Given the description of an element on the screen output the (x, y) to click on. 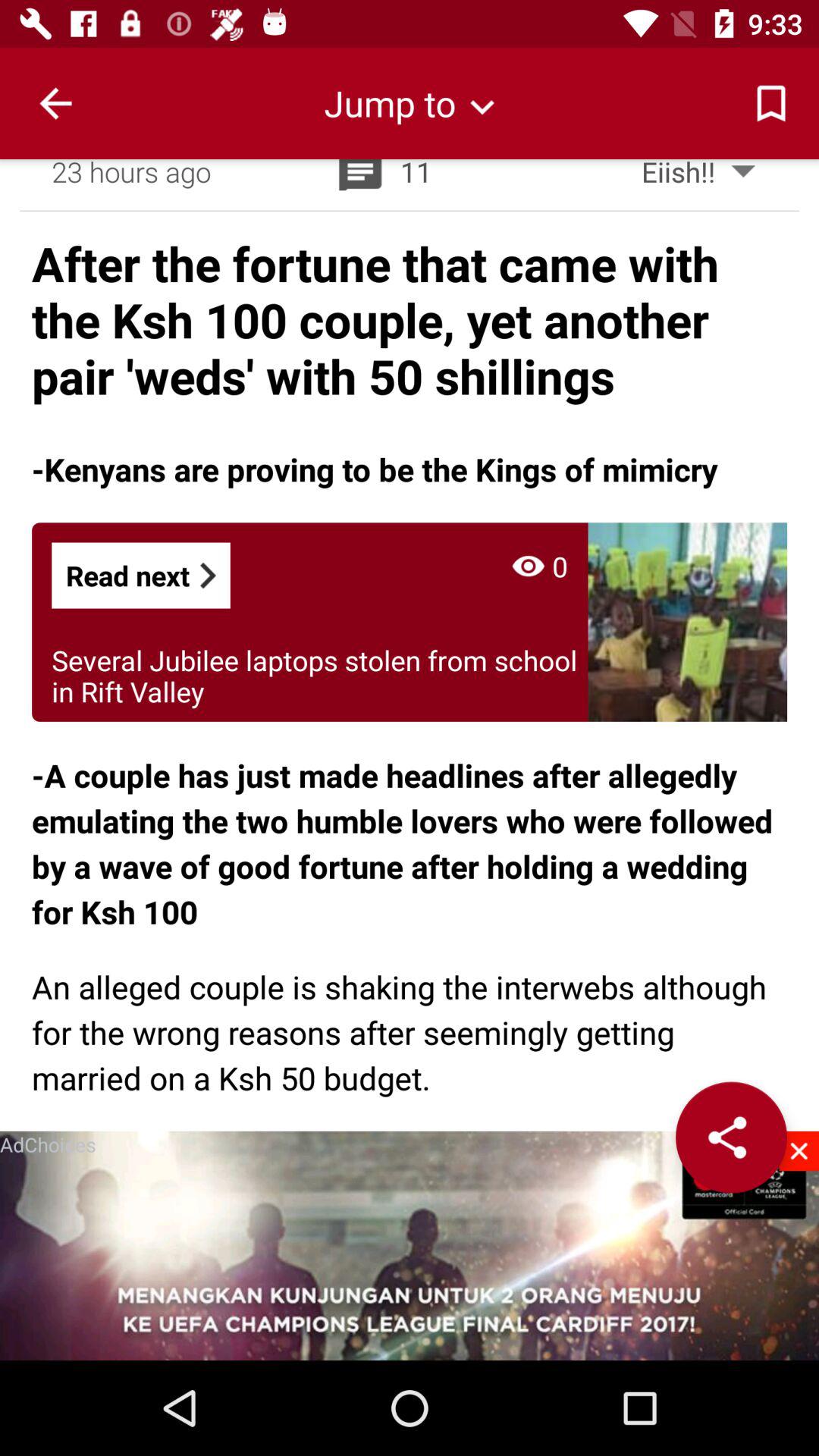
select icon above eiish!! app (771, 103)
